Given the description of an element on the screen output the (x, y) to click on. 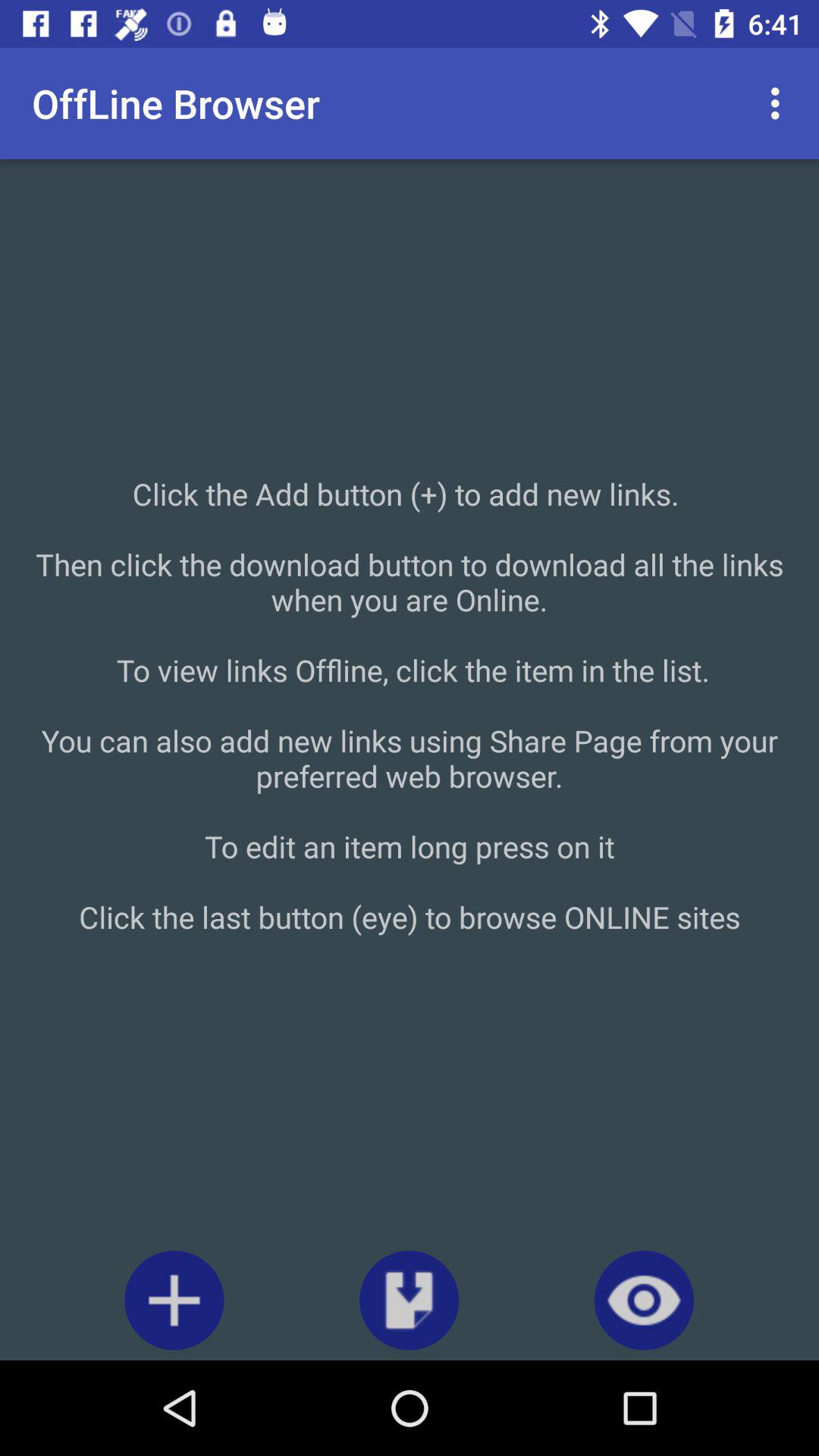
open the icon above the click the add icon (779, 103)
